Given the description of an element on the screen output the (x, y) to click on. 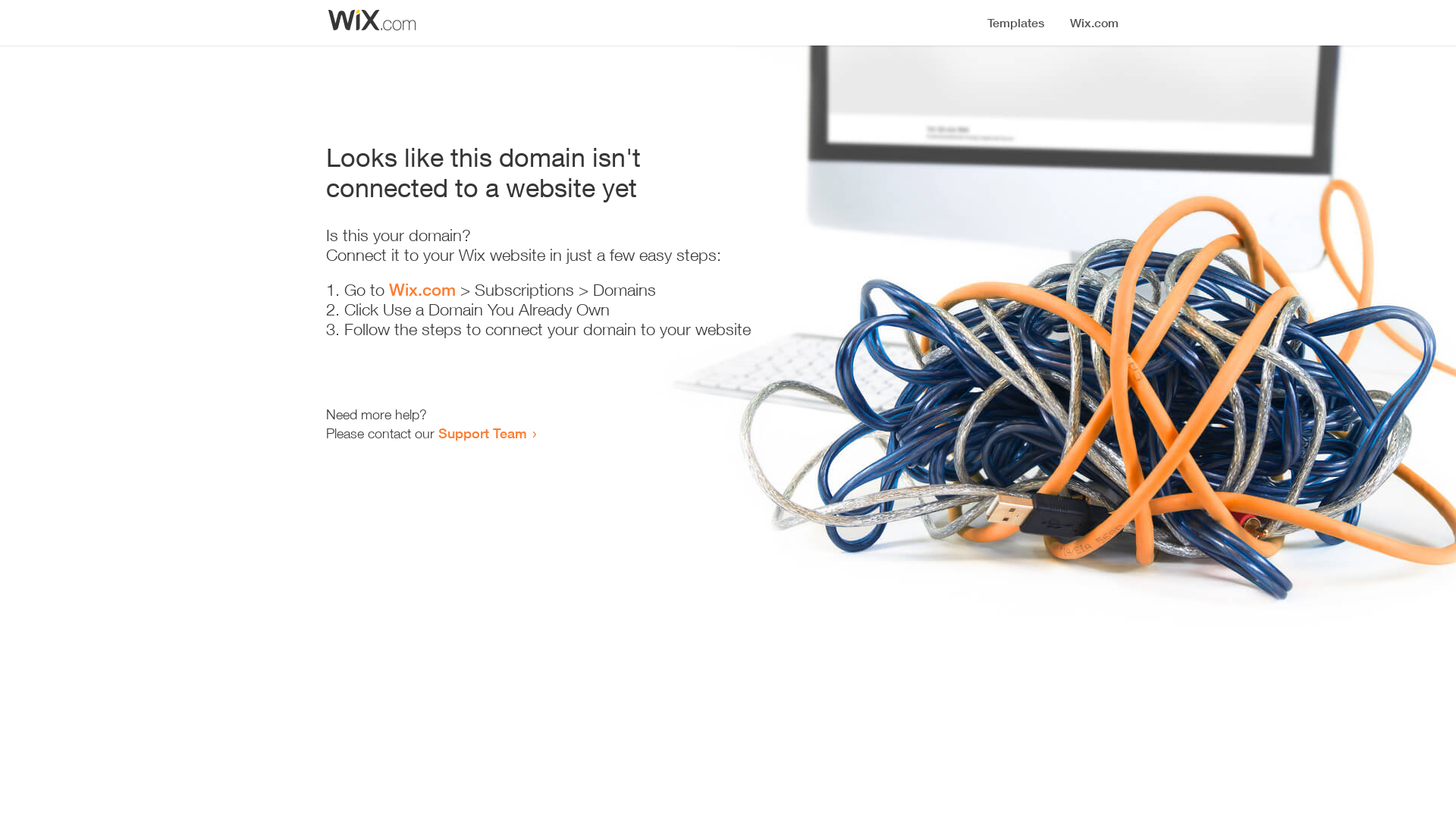
Wix.com Element type: text (422, 289)
Support Team Element type: text (482, 432)
